Given the description of an element on the screen output the (x, y) to click on. 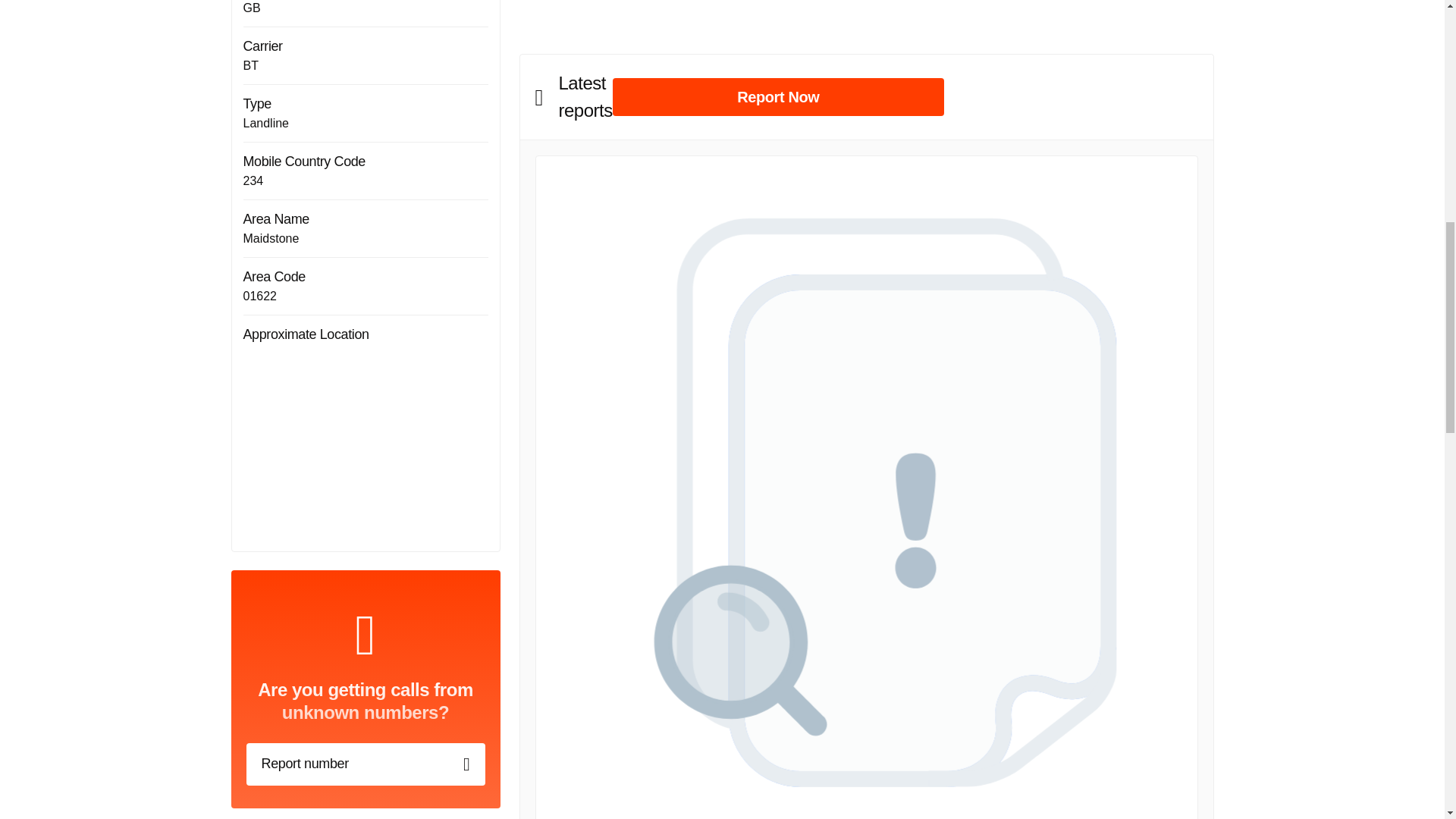
Report number (365, 763)
Report Now (777, 96)
Report Number (365, 763)
Approximate Location of the Phone Number (365, 439)
